Given the description of an element on the screen output the (x, y) to click on. 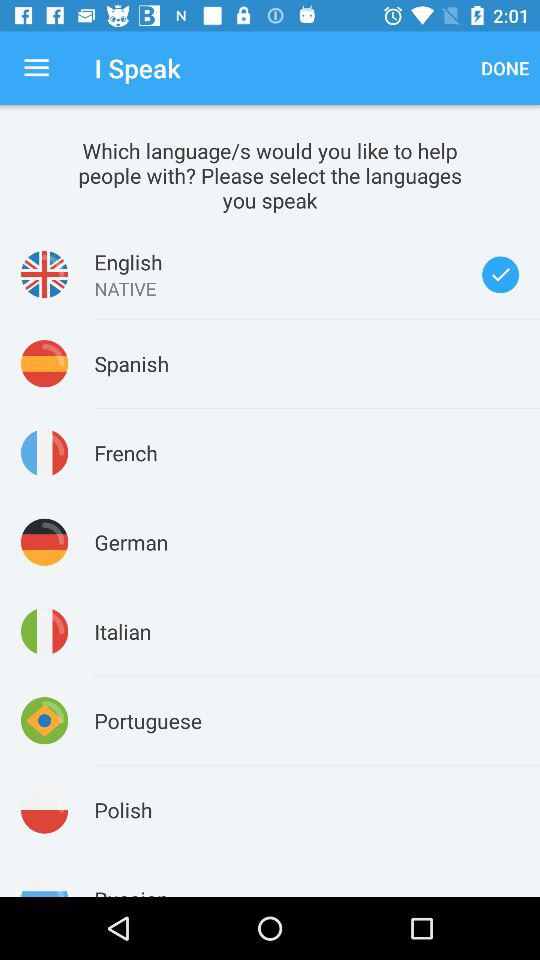
choose icon above the which language s (505, 67)
